Given the description of an element on the screen output the (x, y) to click on. 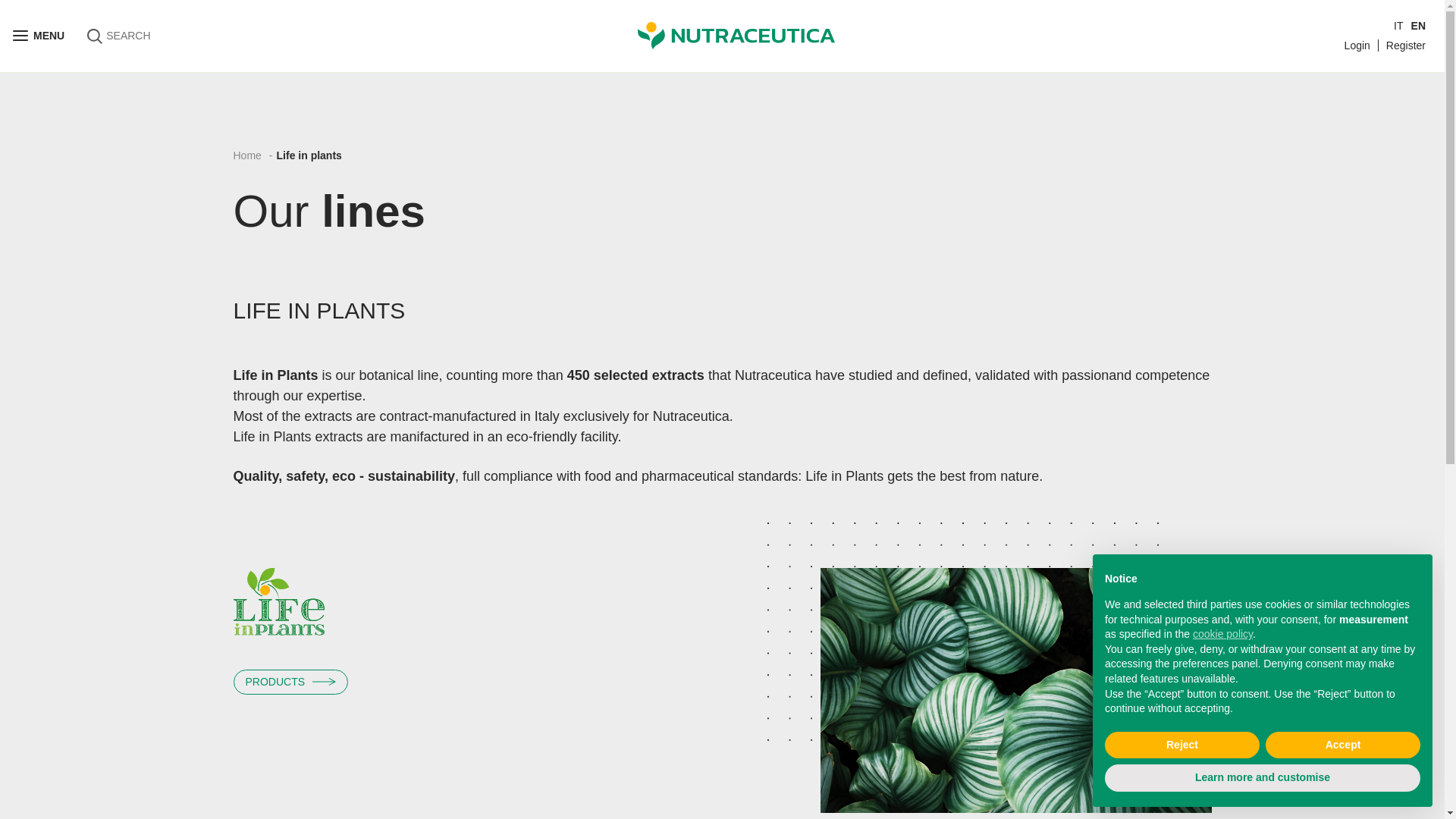
EN (1417, 25)
PRODUCTS (290, 681)
MENU (37, 35)
Register (1405, 45)
SEARCH (118, 35)
Learn more and customise (1263, 777)
cookie policy (1222, 633)
Home (247, 155)
Login (1356, 45)
